Given the description of an element on the screen output the (x, y) to click on. 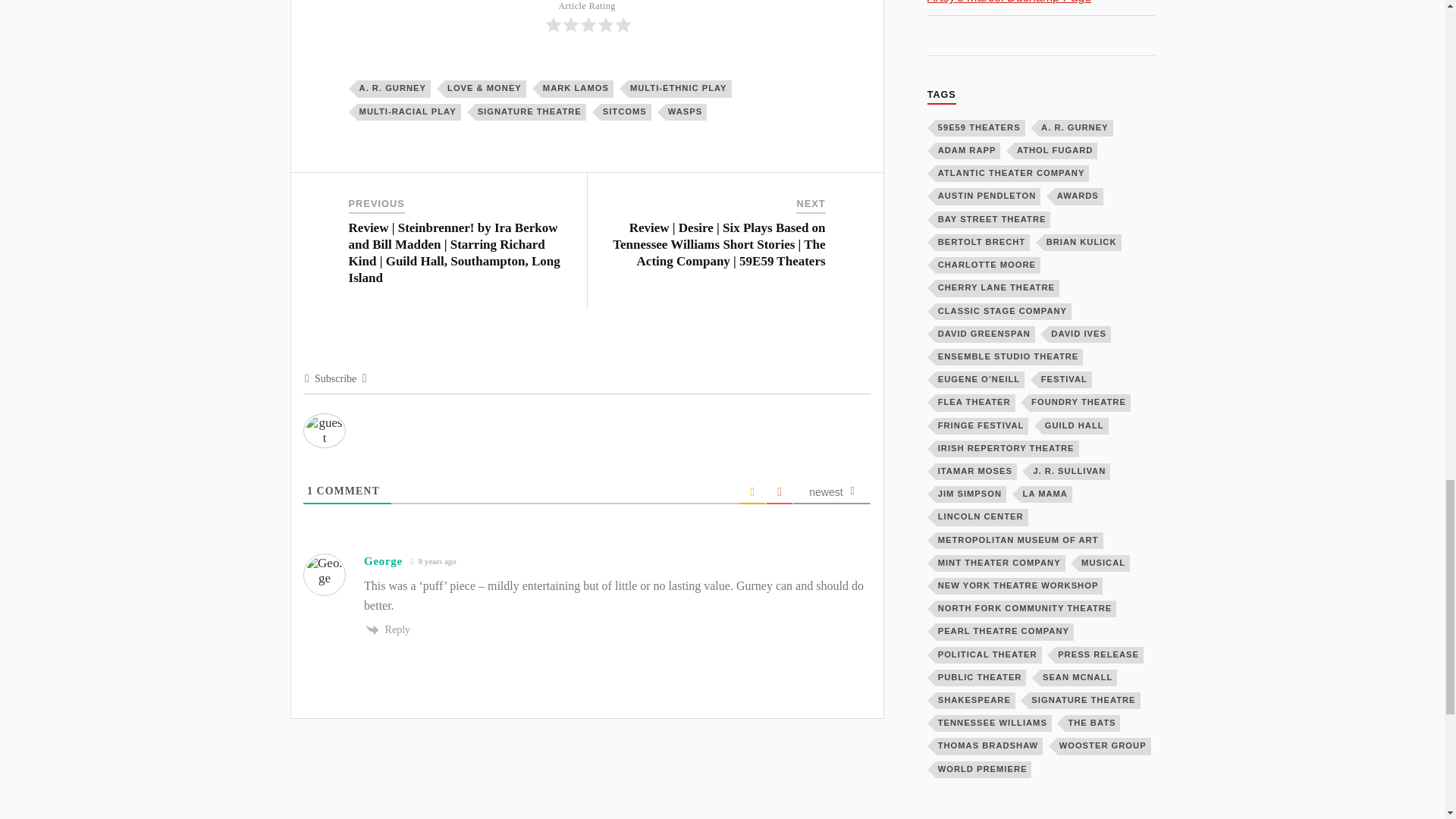
MULTI-ETHNIC PLAY (679, 88)
MULTI-RACIAL PLAY (408, 112)
WASPS (685, 112)
MARK LAMOS (576, 88)
SITCOMS (624, 112)
SIGNATURE THEATRE (531, 112)
A. R. GURNEY (393, 88)
